Given the description of an element on the screen output the (x, y) to click on. 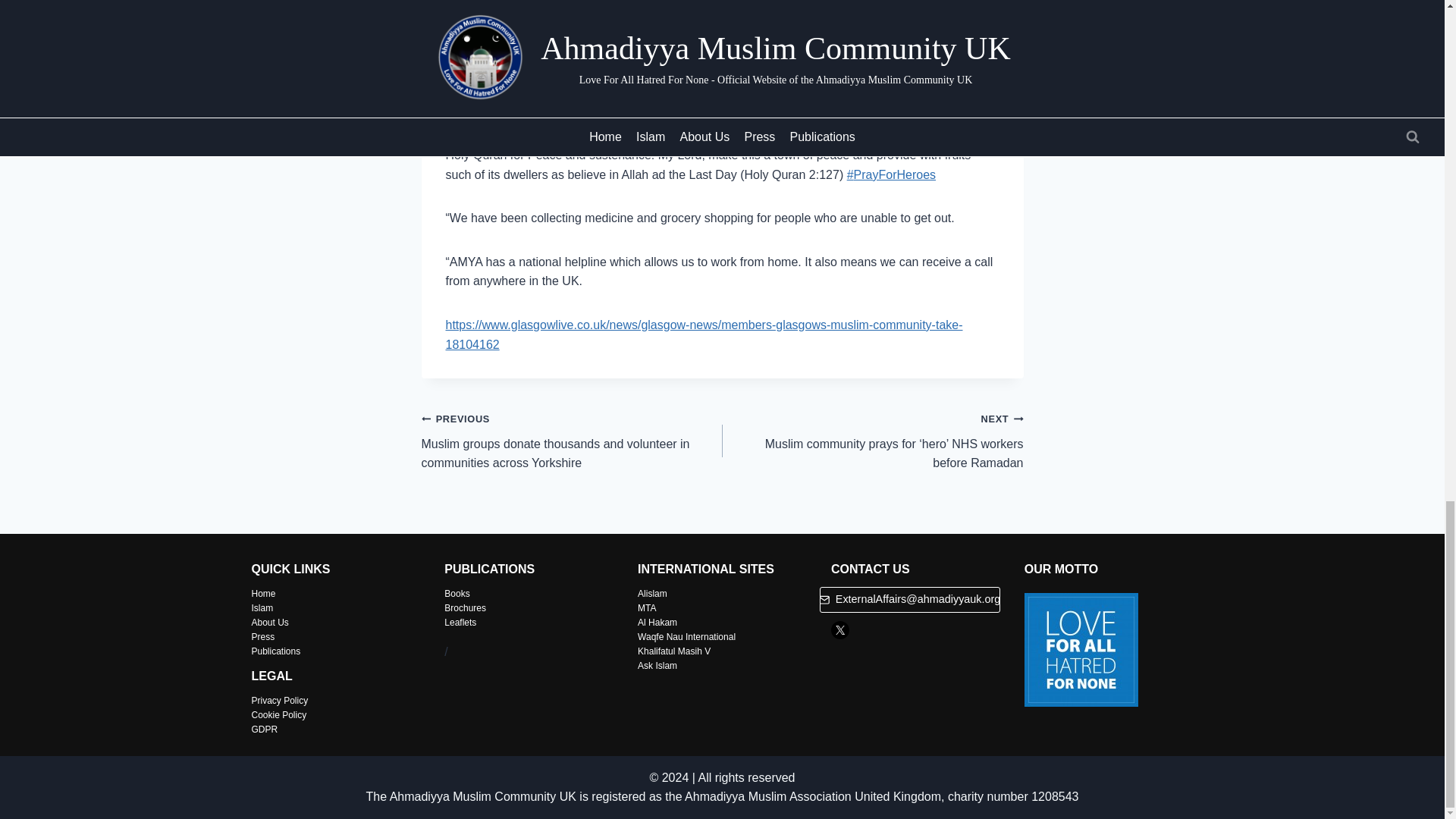
Press (263, 636)
Privacy Policy (279, 700)
Home (263, 593)
Al Hakam (657, 622)
Books (456, 593)
Publications (276, 651)
About Us (269, 622)
Ask Islam (657, 665)
Alislam (651, 593)
Leaflets (460, 622)
Khalifatul Masih V (673, 651)
GDPR (264, 728)
Brochures (465, 607)
MTA (646, 607)
